Given the description of an element on the screen output the (x, y) to click on. 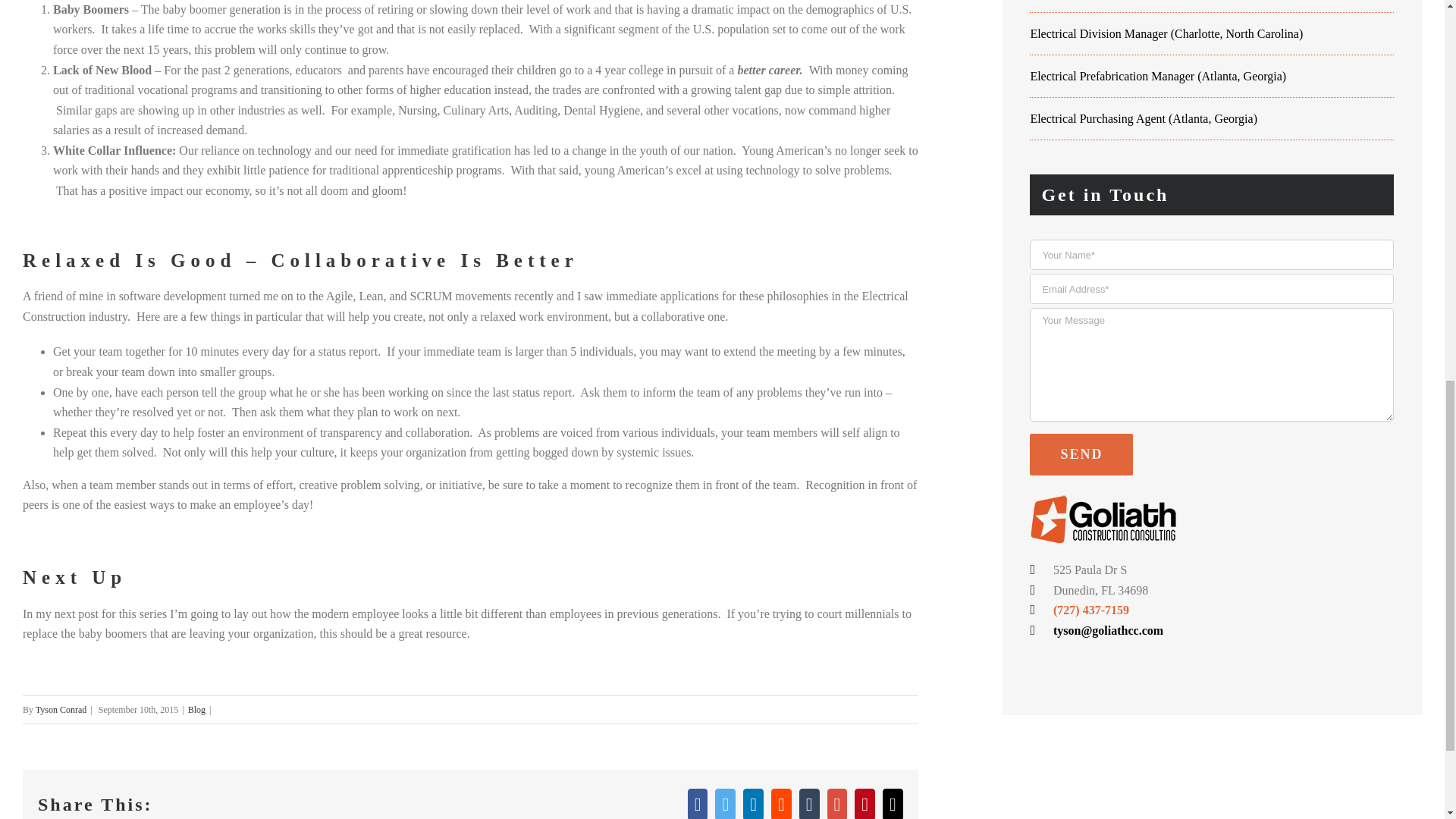
Tyson Conrad (60, 709)
Send (1080, 454)
Blog (196, 709)
Posts by Tyson Conrad (60, 709)
Goliath-Construction-Consulting-Logox80 (1113, 517)
